Given the description of an element on the screen output the (x, y) to click on. 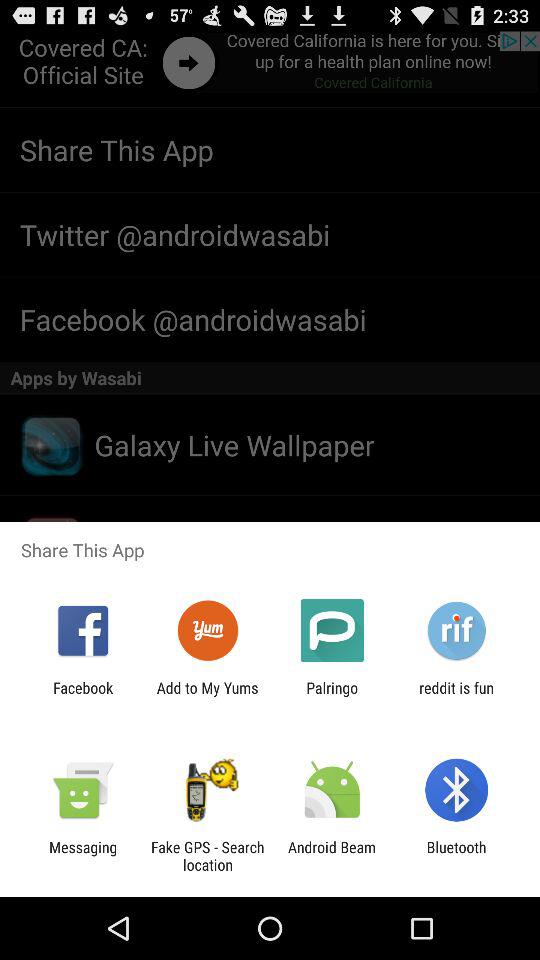
select the icon next to the android beam icon (456, 856)
